Given the description of an element on the screen output the (x, y) to click on. 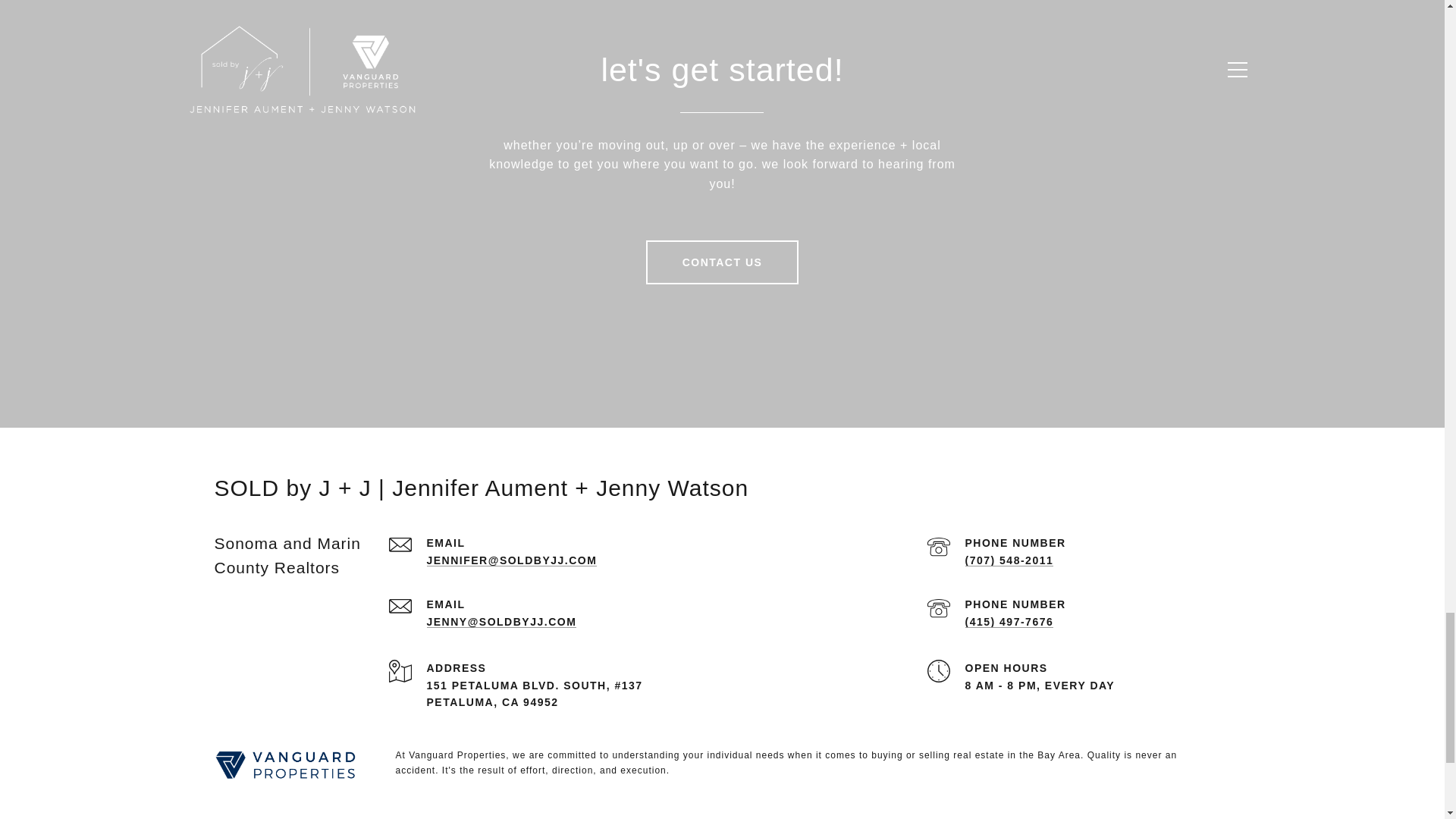
CONTACT US (722, 262)
